Given the description of an element on the screen output the (x, y) to click on. 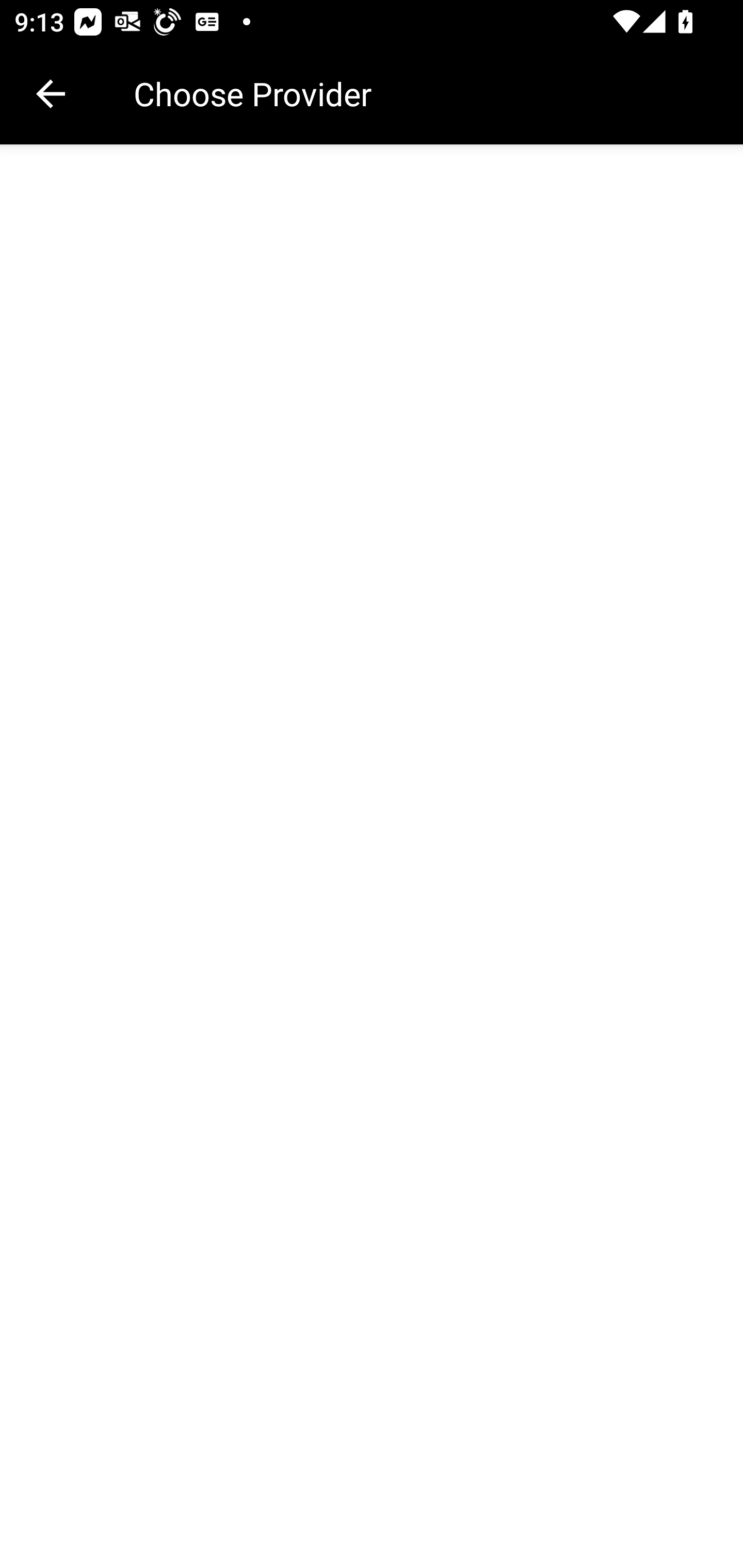
Navigate up (50, 93)
